Given the description of an element on the screen output the (x, y) to click on. 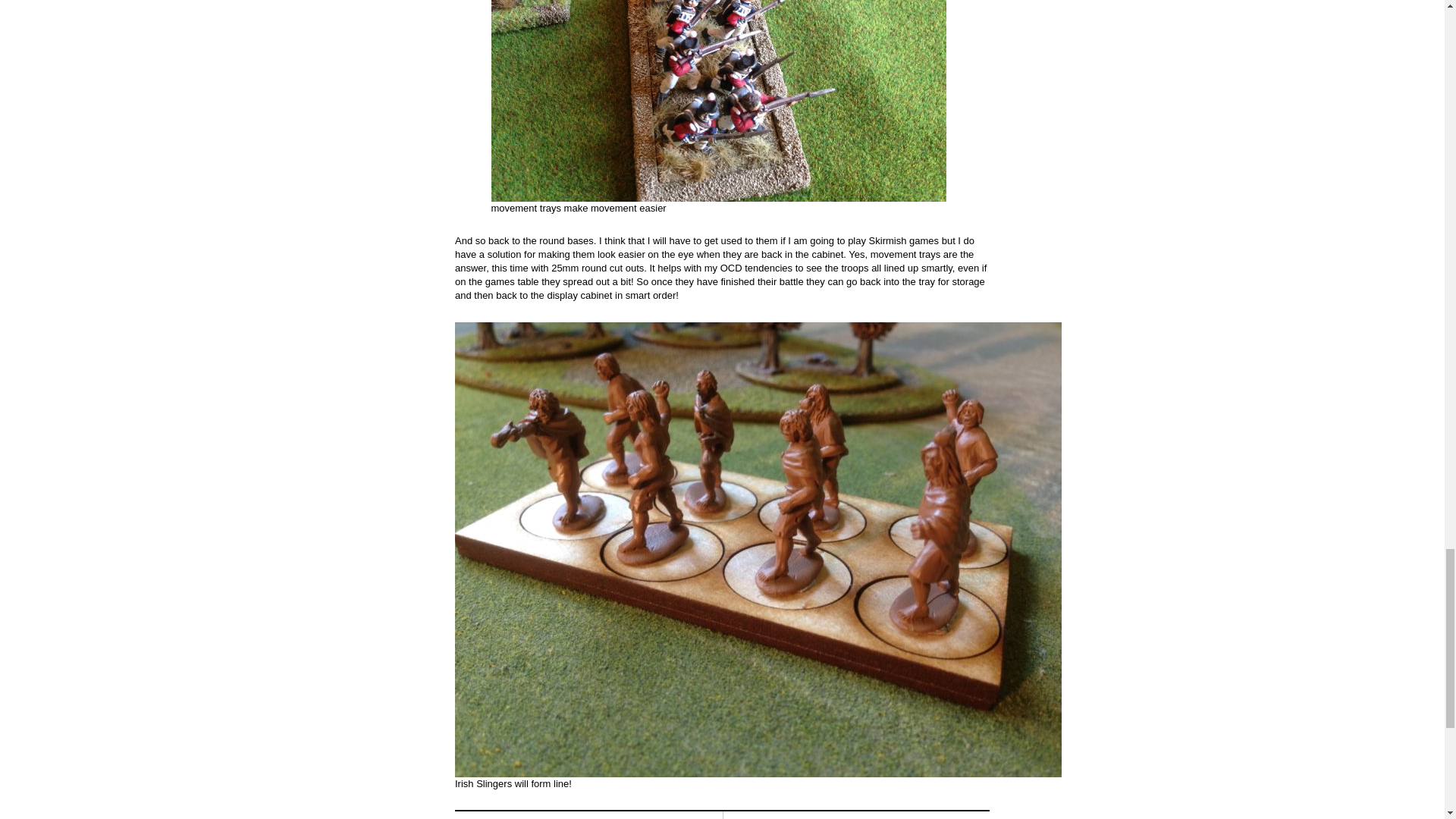
Austrian Artillery Fusilier Battalion (889, 815)
